Given the description of an element on the screen output the (x, y) to click on. 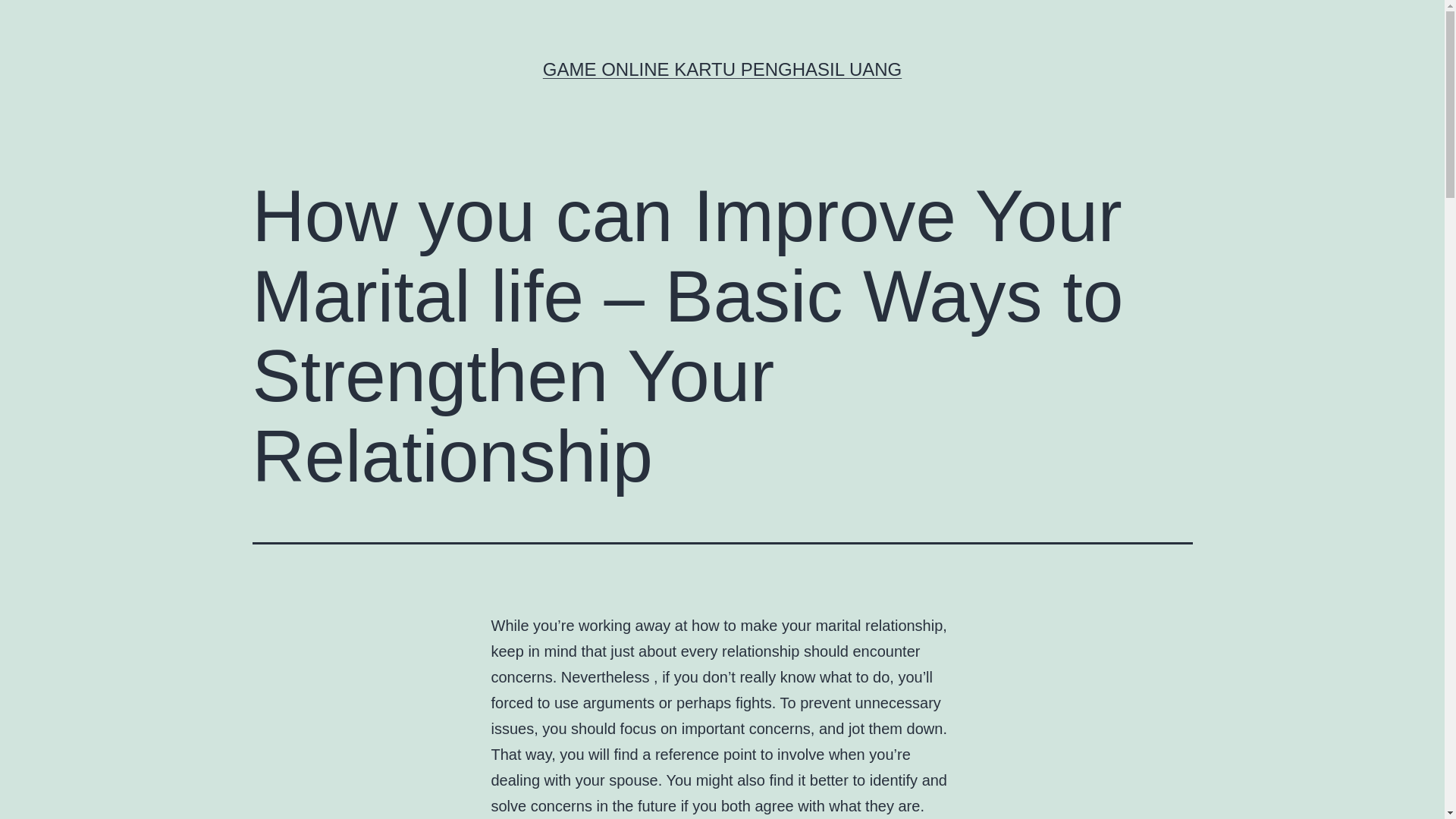
GAME ONLINE KARTU PENGHASIL UANG (722, 68)
